Given the description of an element on the screen output the (x, y) to click on. 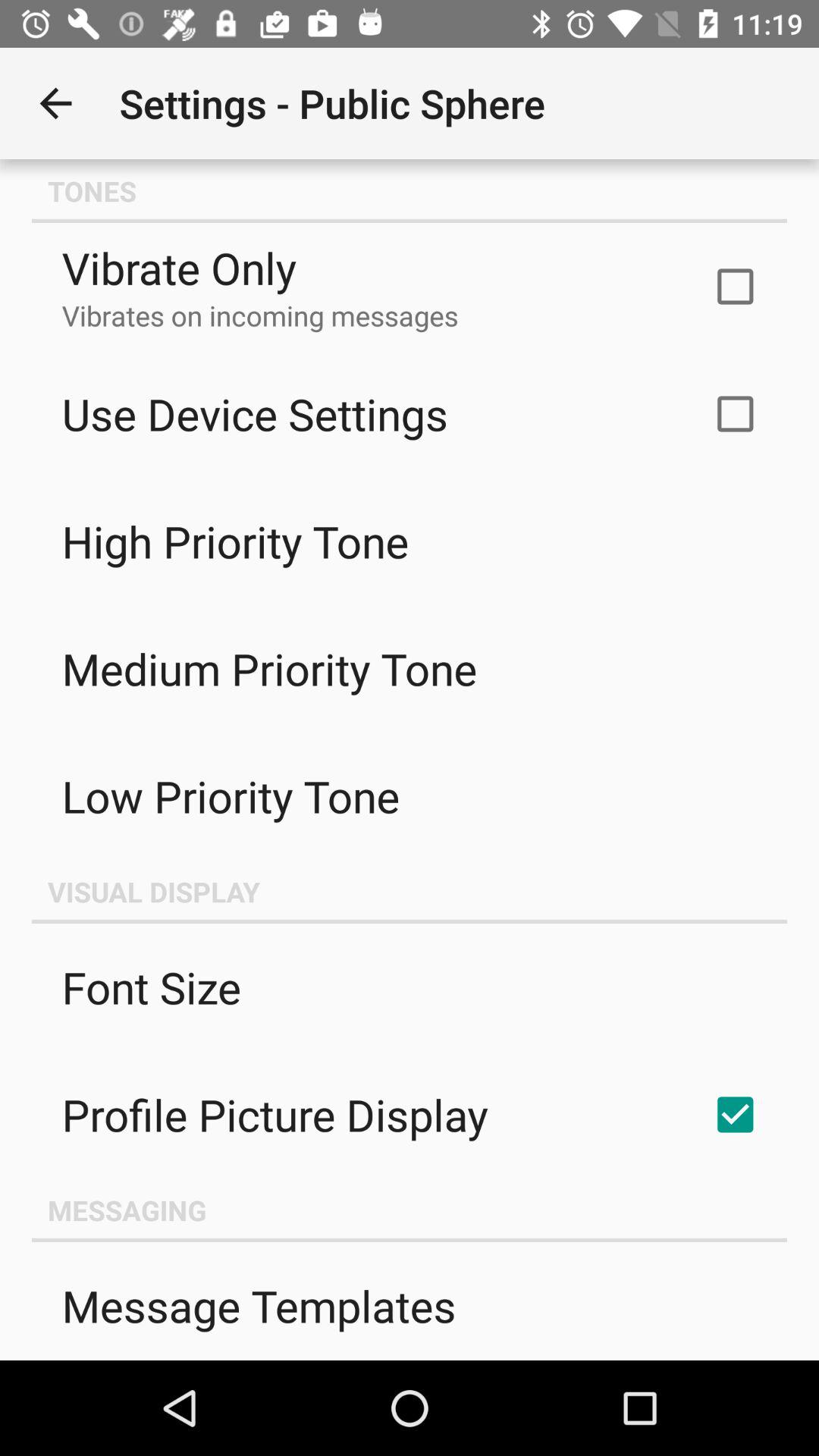
select the app next to the settings - public sphere app (55, 103)
